Given the description of an element on the screen output the (x, y) to click on. 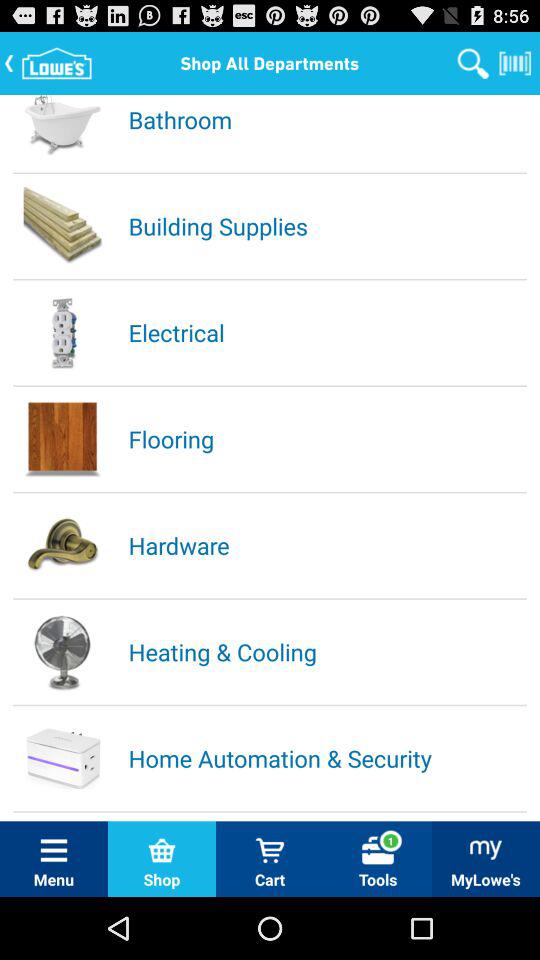
click the tools option (377, 850)
